Given the description of an element on the screen output the (x, y) to click on. 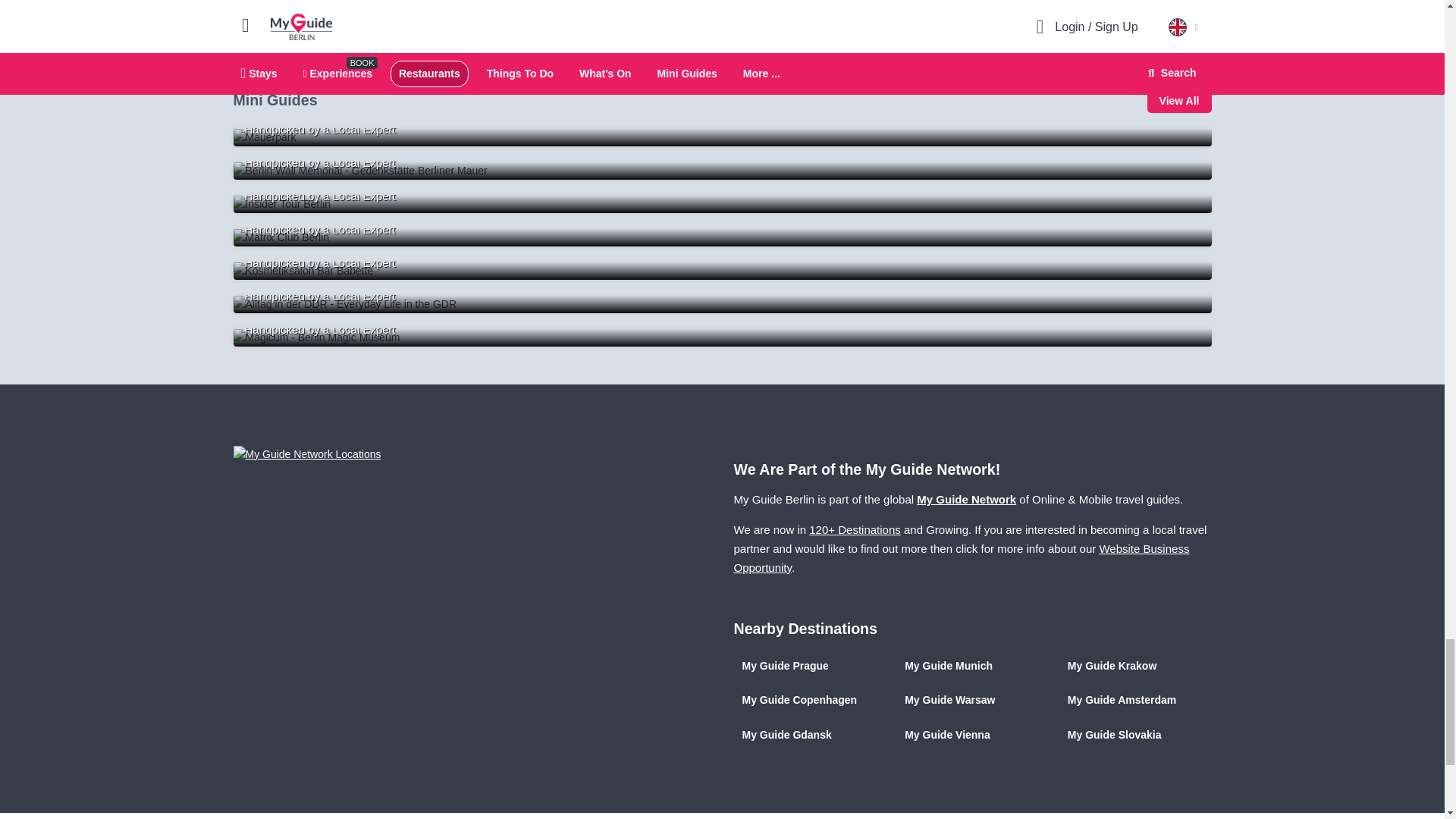
Best Markets in Berlin (721, 136)
